Given the description of an element on the screen output the (x, y) to click on. 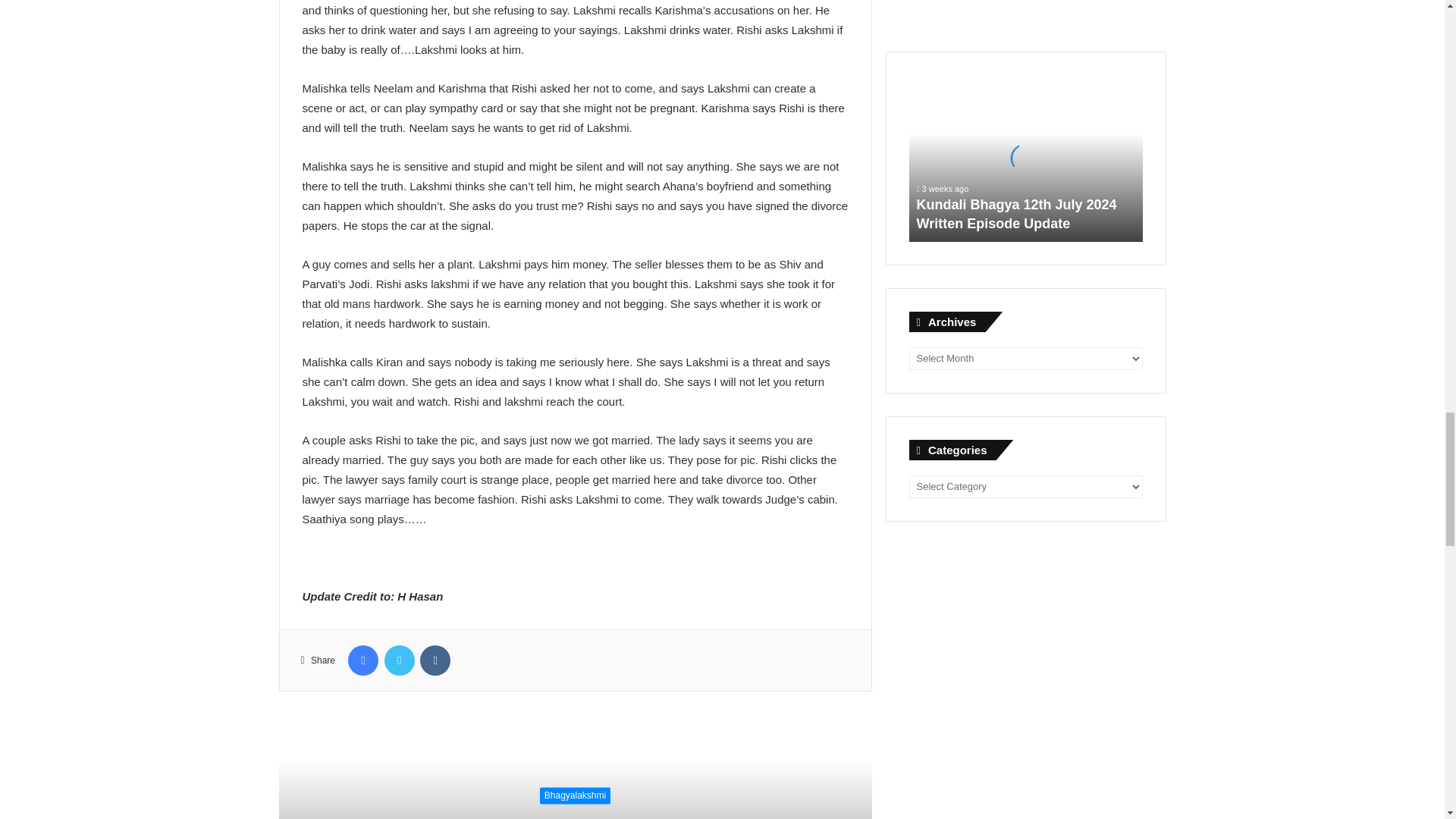
Kundali Bhagya 12th July 2024 Written Episode Update (1025, 157)
VKontakte (434, 660)
Kundali Bhagya 12th July 2024 Written Episode Update (1016, 213)
Twitter (399, 660)
Facebook (362, 660)
